Given the description of an element on the screen output the (x, y) to click on. 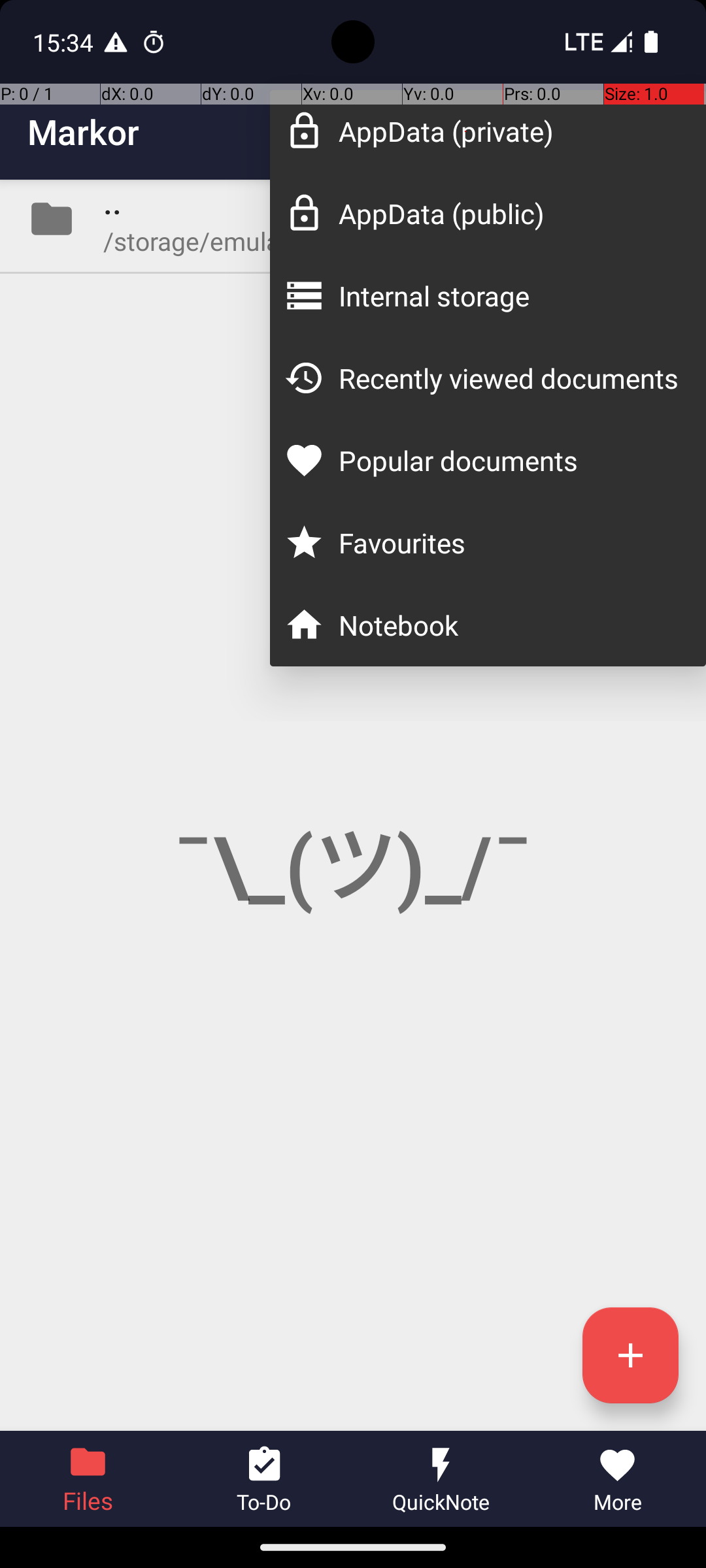
AppData (private) Element type: android.widget.TextView (508, 130)
AppData (public) Element type: android.widget.TextView (508, 212)
Internal storage Element type: android.widget.TextView (508, 295)
Recently viewed documents Element type: android.widget.TextView (508, 377)
Popular documents Element type: android.widget.TextView (508, 459)
Favourites Element type: android.widget.TextView (508, 542)
Notebook Element type: android.widget.TextView (508, 624)
